Given the description of an element on the screen output the (x, y) to click on. 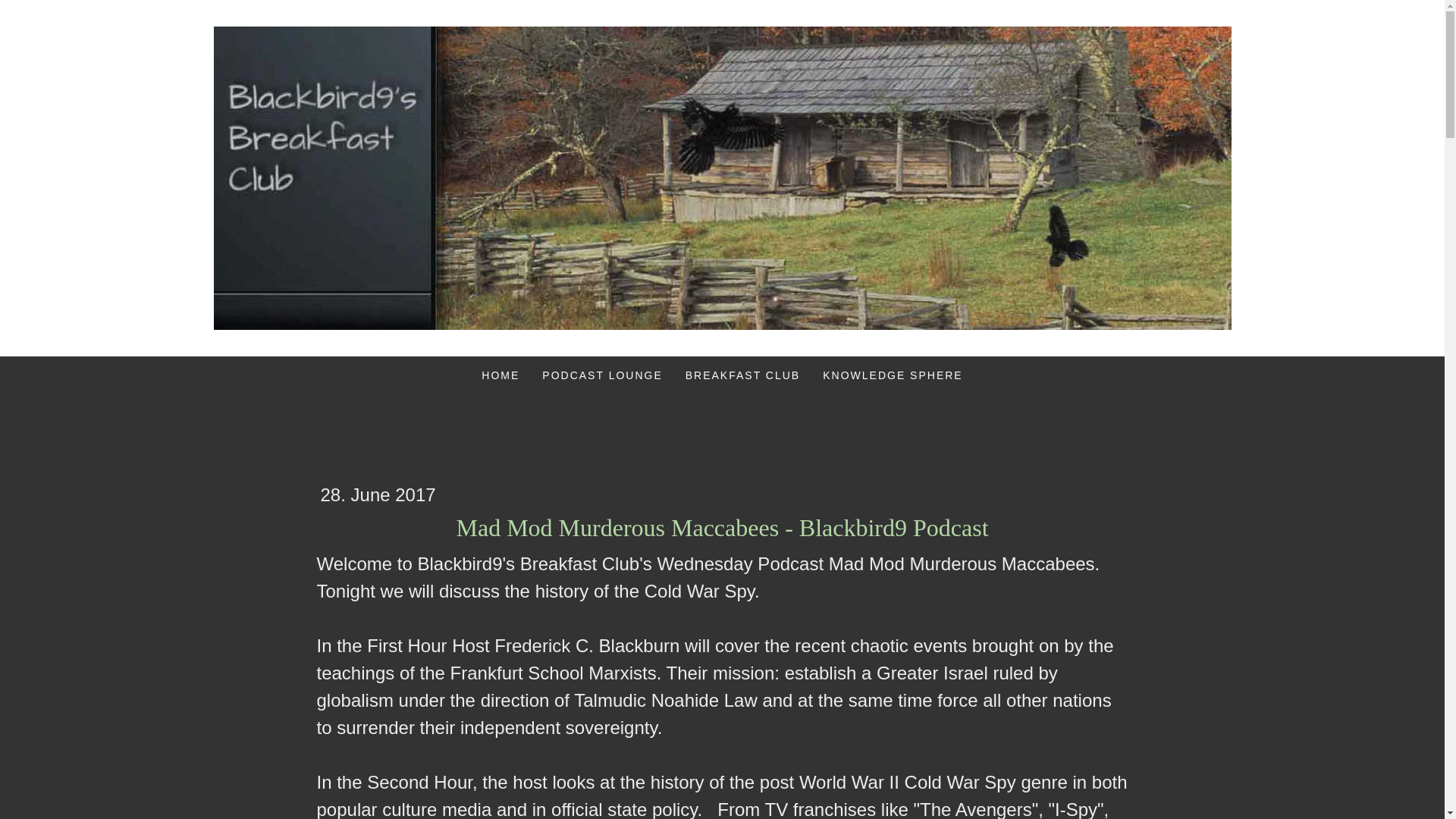
PODCAST LOUNGE (601, 374)
BREAKFAST CLUB (742, 374)
HOME (500, 374)
KNOWLEDGE SPHERE (892, 374)
